Given the description of an element on the screen output the (x, y) to click on. 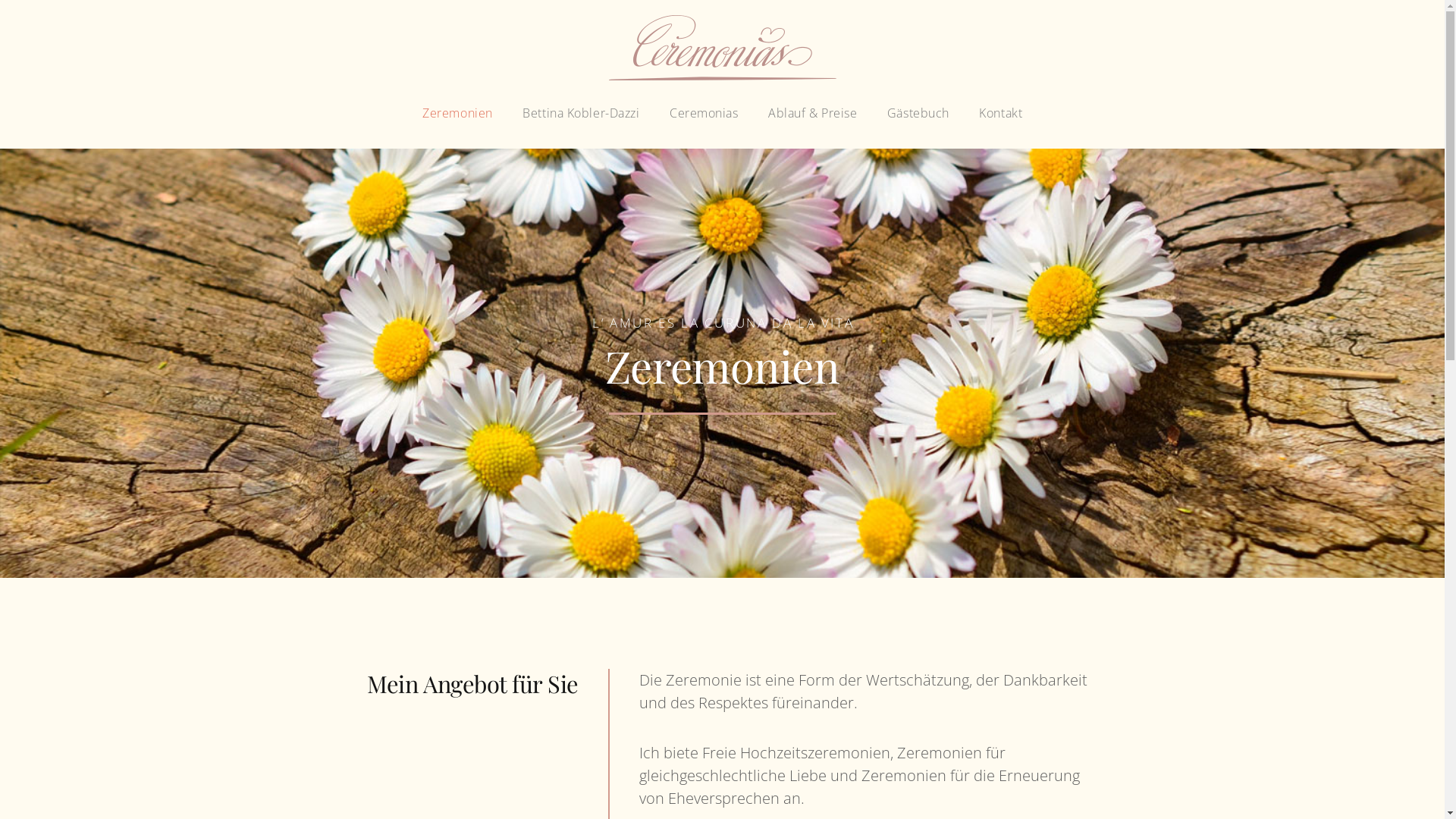
Kontakt Element type: text (999, 114)
Bettina Kobler-Dazzi Element type: text (580, 114)
Ceremonias Element type: text (703, 114)
Ablauf & Preise Element type: text (812, 114)
Zeremonien Element type: text (457, 114)
